Given the description of an element on the screen output the (x, y) to click on. 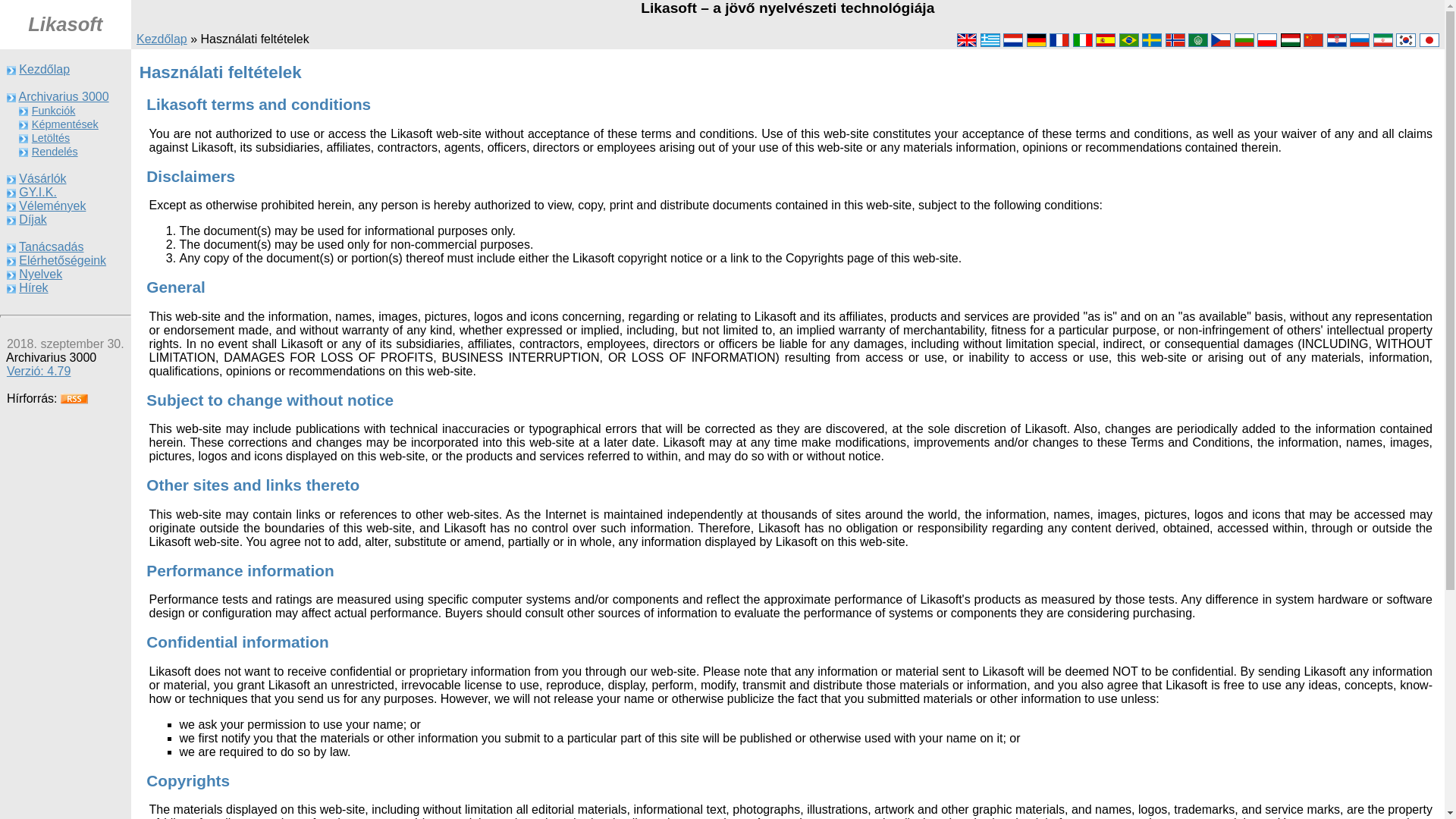
GY.I.K. (37, 192)
 Likasoft  (65, 26)
Archivarius 3000 (62, 96)
Nyelvek (40, 273)
